Given the description of an element on the screen output the (x, y) to click on. 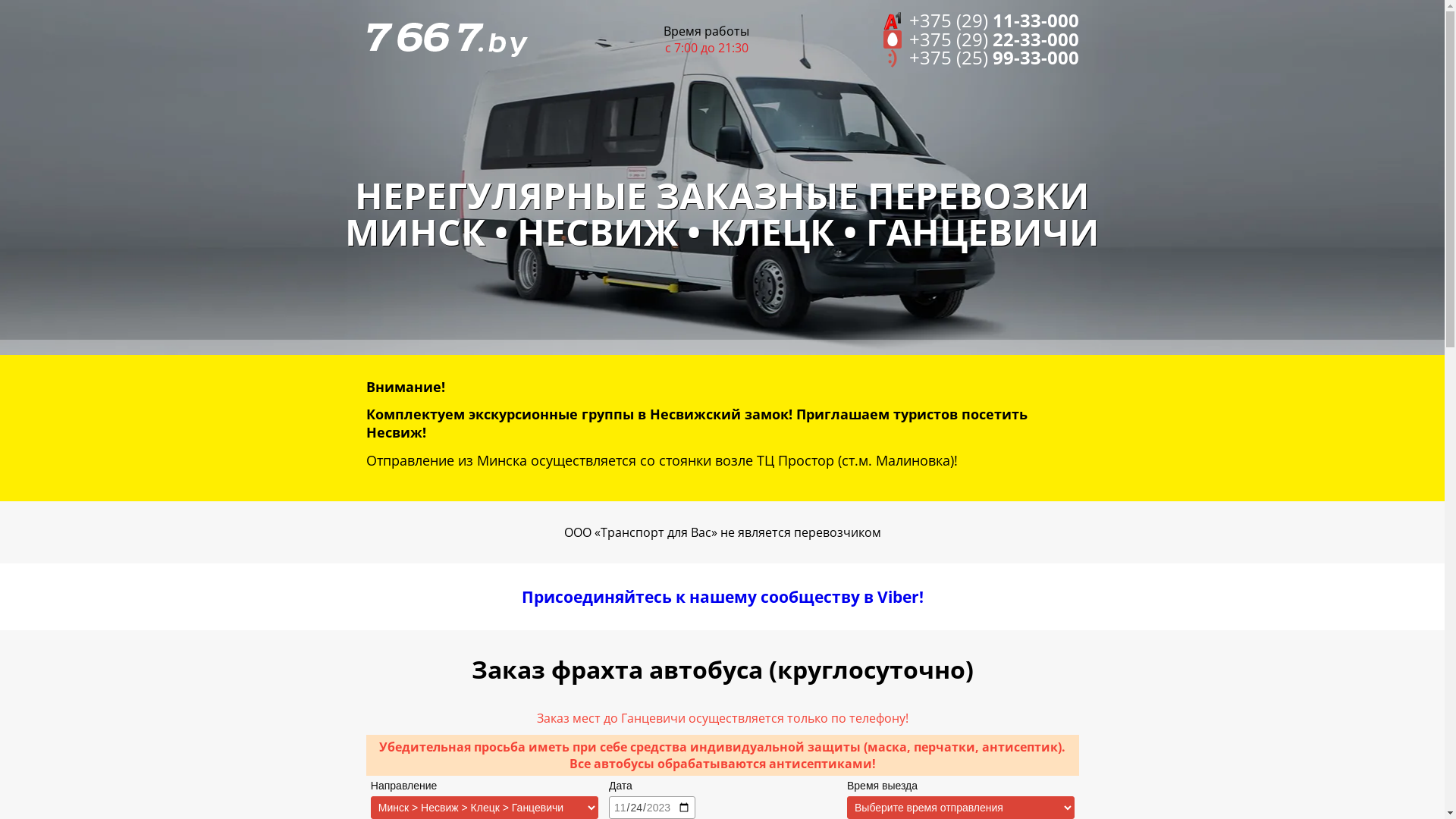
+375 (29) 22-33-000 Element type: text (981, 39)
+375 (25) 99-33-000 Element type: text (981, 57)
+375 (29) 11-33-000 Element type: text (981, 20)
